Given the description of an element on the screen output the (x, y) to click on. 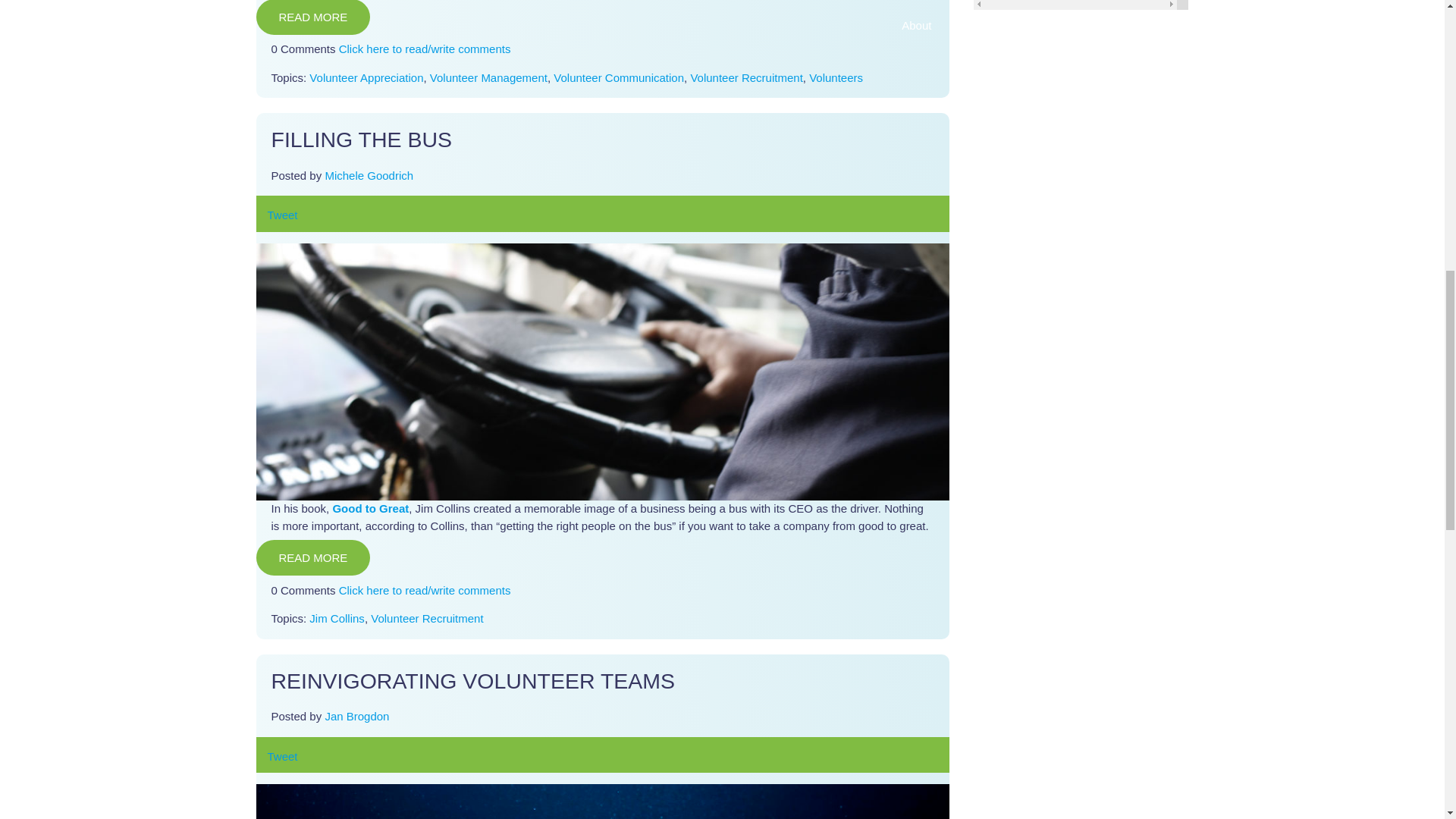
Volunteer Recruitment (746, 77)
Michele Goodrich (368, 174)
Tweet (281, 214)
FILLING THE BUS (361, 139)
READ MORE (313, 17)
Volunteer Management (488, 77)
Volunteers (836, 77)
Volunteer Communication (618, 77)
Volunteer Appreciation (365, 77)
